Given the description of an element on the screen output the (x, y) to click on. 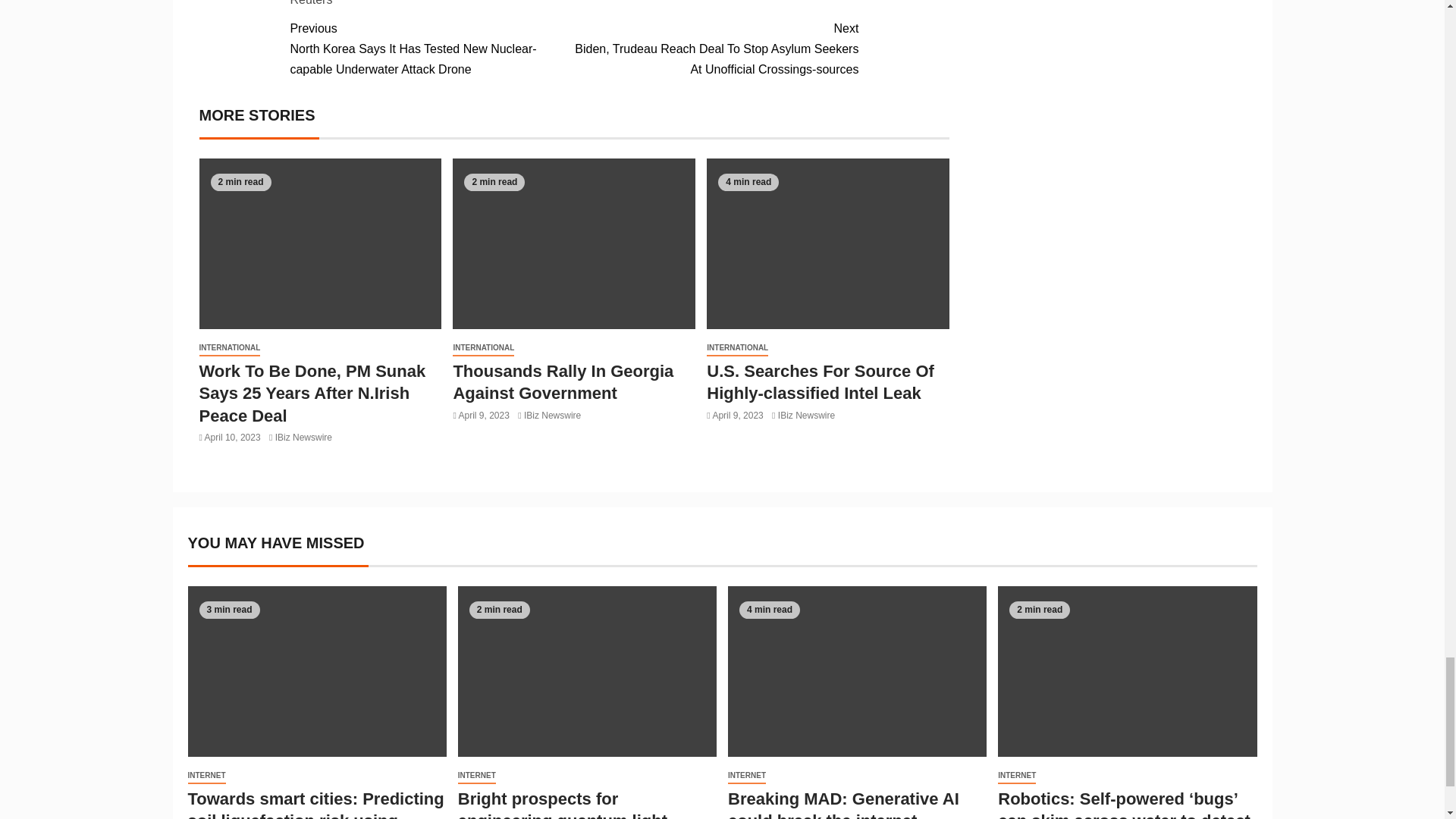
U.S. Searches For Source Of Highly-classified Intel Leak (820, 381)
INTERNATIONAL (229, 348)
INTERNATIONAL (482, 348)
INTERNATIONAL (737, 348)
IBiz Newswire (552, 415)
IBiz Newswire (303, 437)
IBiz Newswire (805, 415)
Thousands Rally In Georgia Against Government (562, 381)
